Given the description of an element on the screen output the (x, y) to click on. 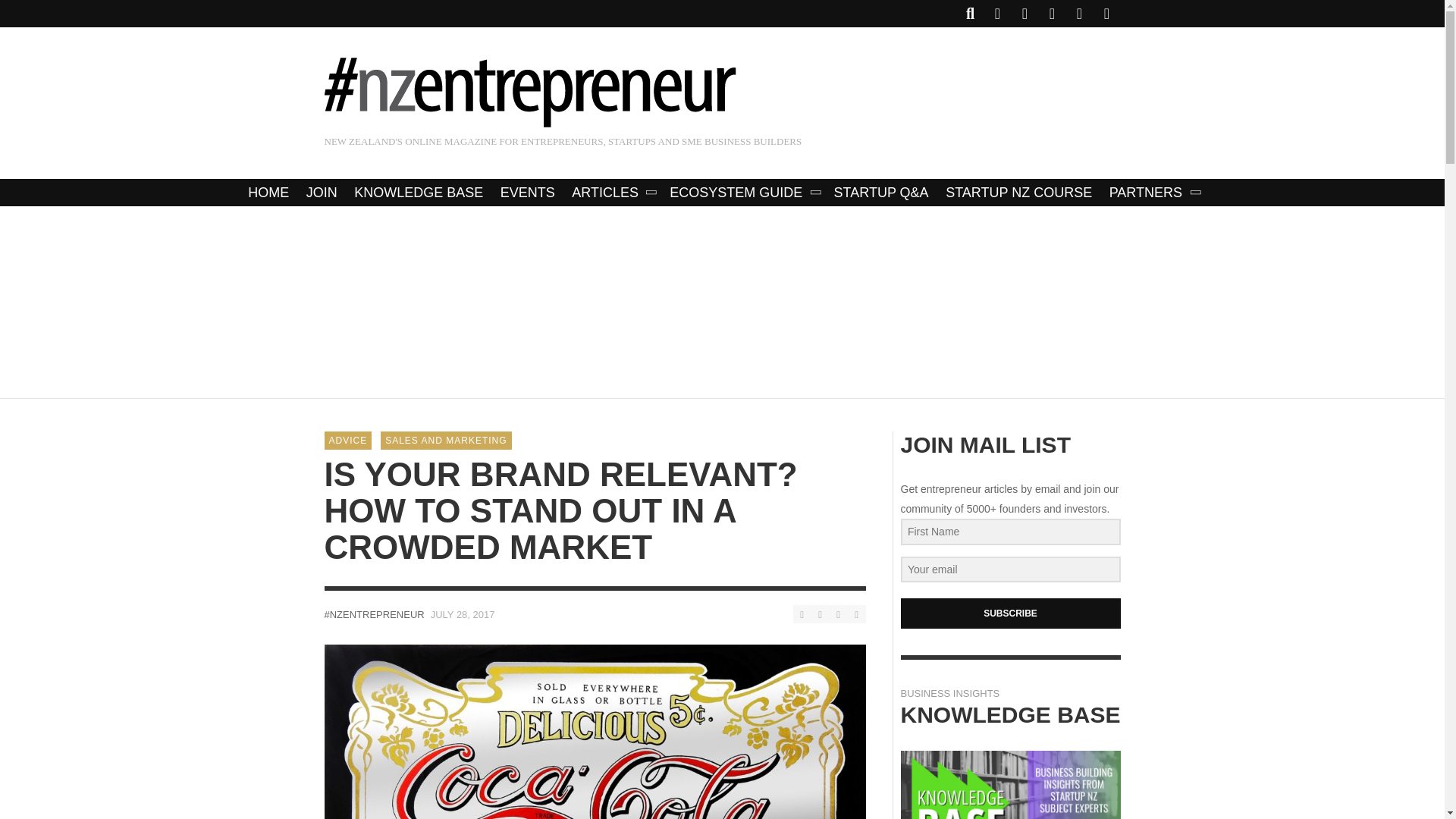
STARTUP NZ COURSE (1018, 192)
HOME (269, 192)
KNOWLEDGE BASE (419, 192)
ECOSYSTEM GUIDE (743, 192)
JOIN (321, 192)
EVENTS (528, 192)
ARTICLES (612, 192)
PARTNERS (1152, 192)
